Given the description of an element on the screen output the (x, y) to click on. 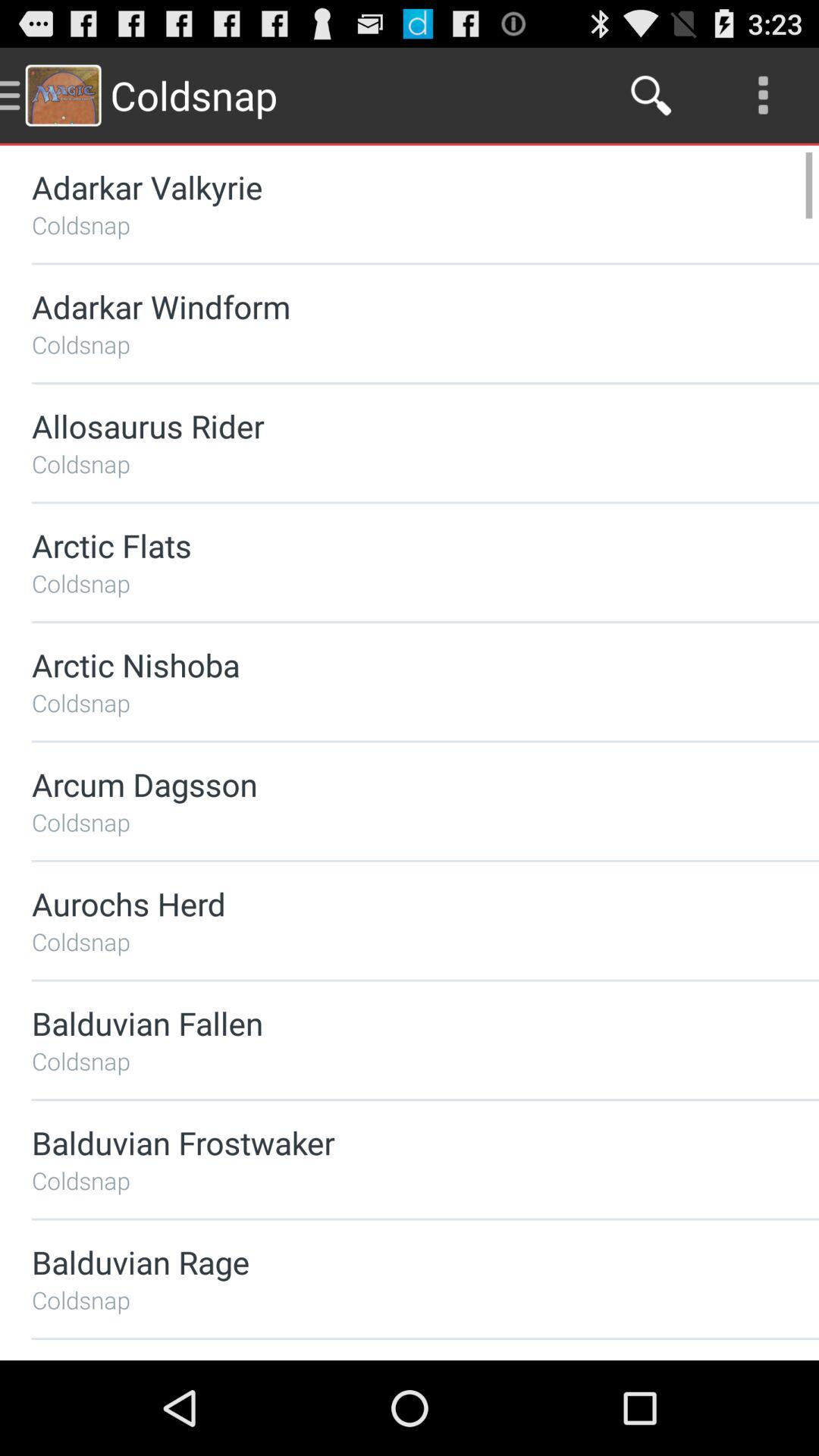
choose app above the coldsnap app (385, 903)
